Given the description of an element on the screen output the (x, y) to click on. 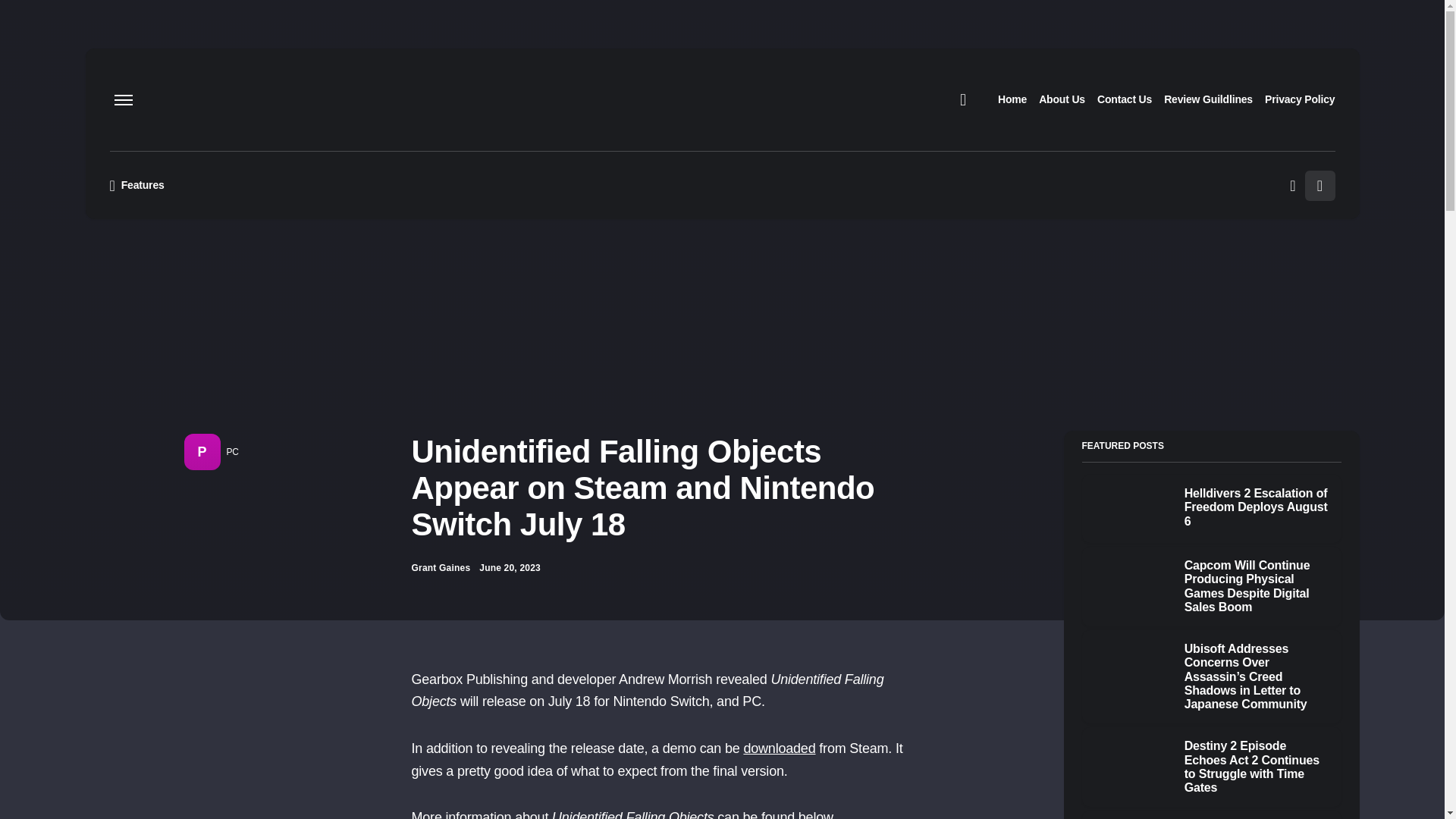
View all posts by Grant Gaines (440, 567)
